Given the description of an element on the screen output the (x, y) to click on. 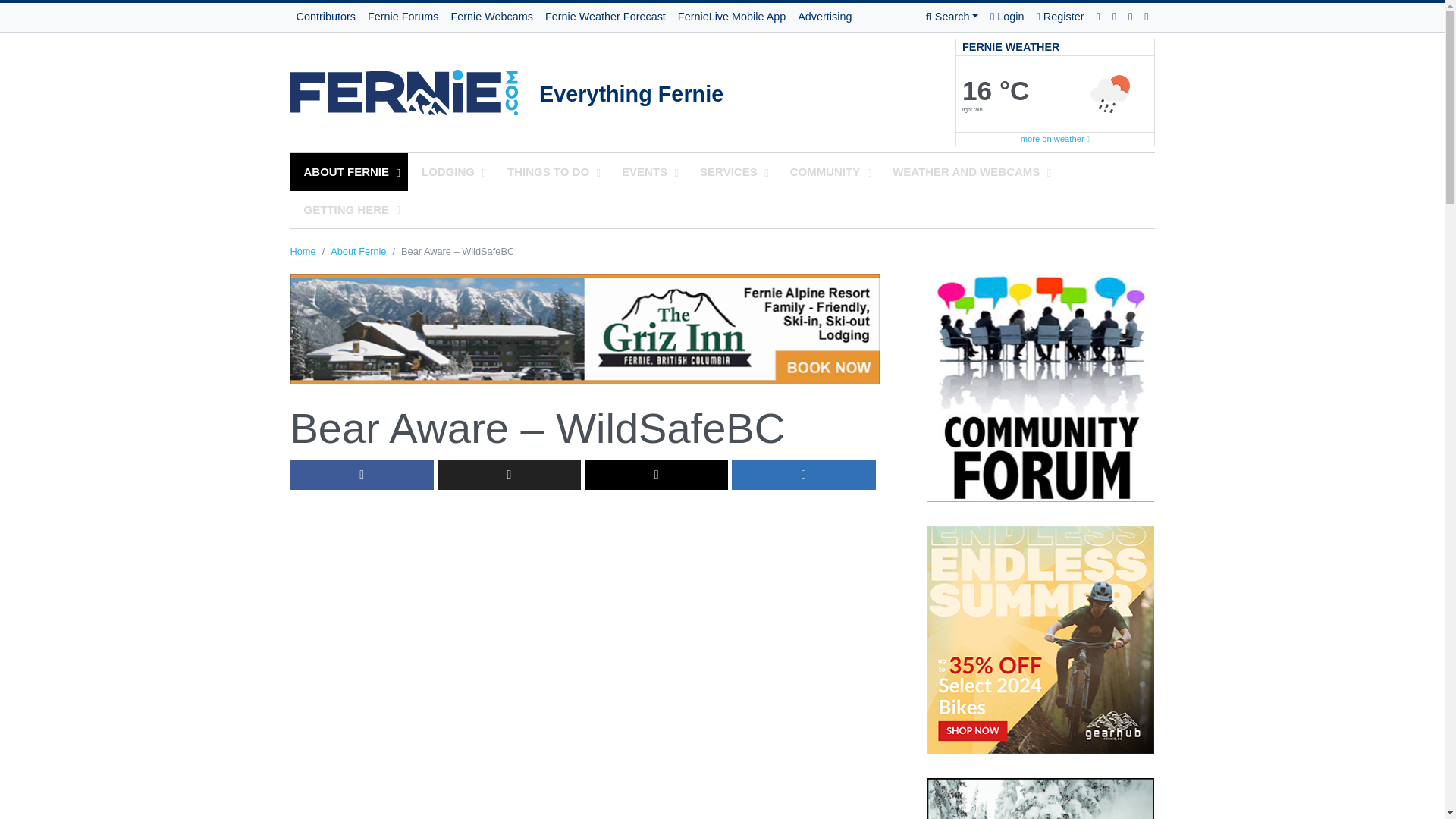
Fernie Forums (403, 17)
Fernie Forums (403, 17)
THINGS TO DO (550, 171)
FernieLive Mobile App (731, 17)
Contributors (325, 17)
Login (1006, 17)
Advertising (824, 17)
ABOUT FERNIE (348, 171)
Fernie Weather Forecast (604, 17)
Advertising (824, 17)
